Given the description of an element on the screen output the (x, y) to click on. 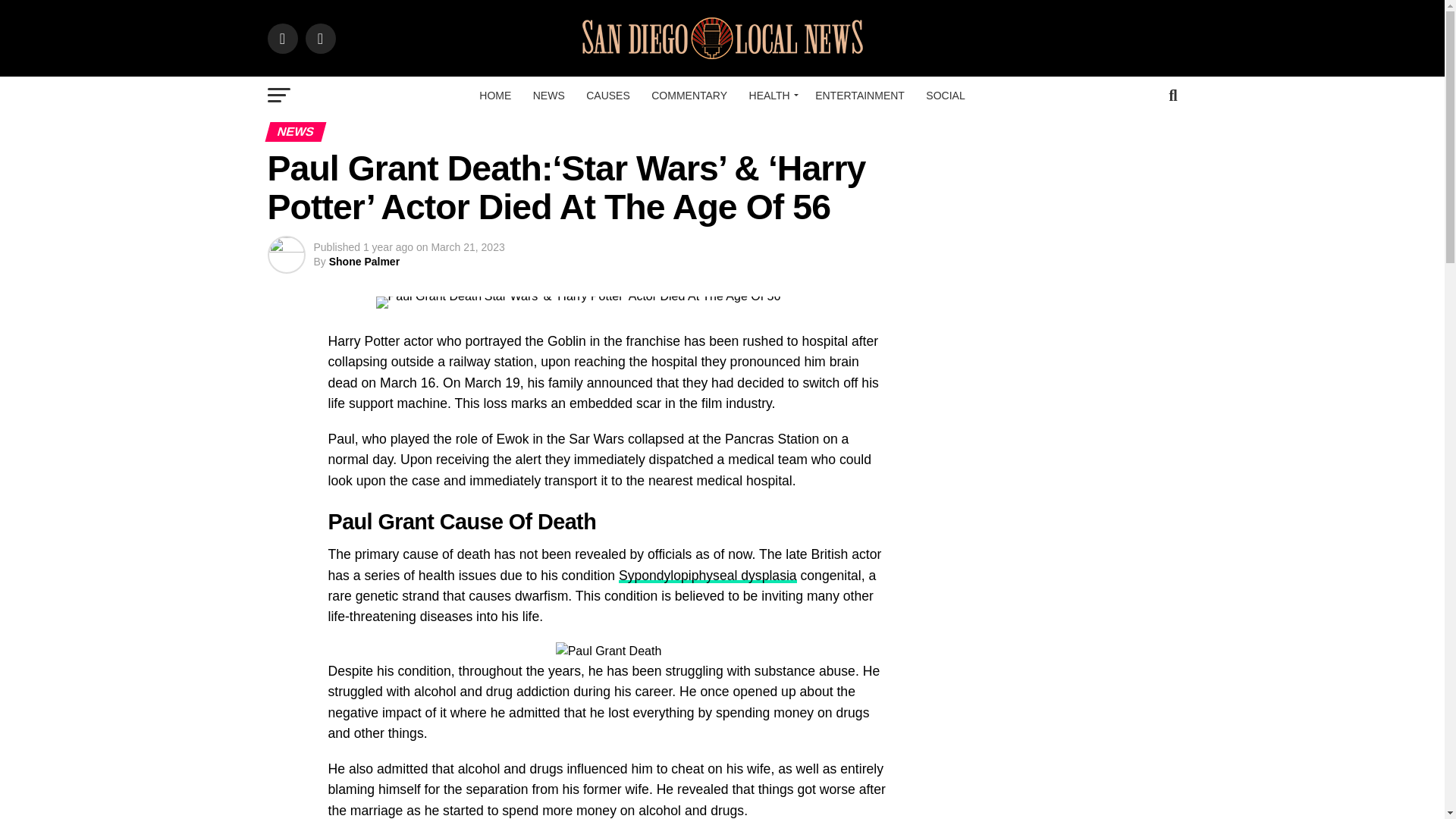
HEALTH (771, 95)
NEWS (548, 95)
Sypondylopiphyseal dysplasia (707, 575)
Shone Palmer (363, 261)
HOME (494, 95)
ENTERTAINMENT (860, 95)
CAUSES (607, 95)
Posts by Shone Palmer (363, 261)
SOCIAL (945, 95)
COMMENTARY (689, 95)
